Given the description of an element on the screen output the (x, y) to click on. 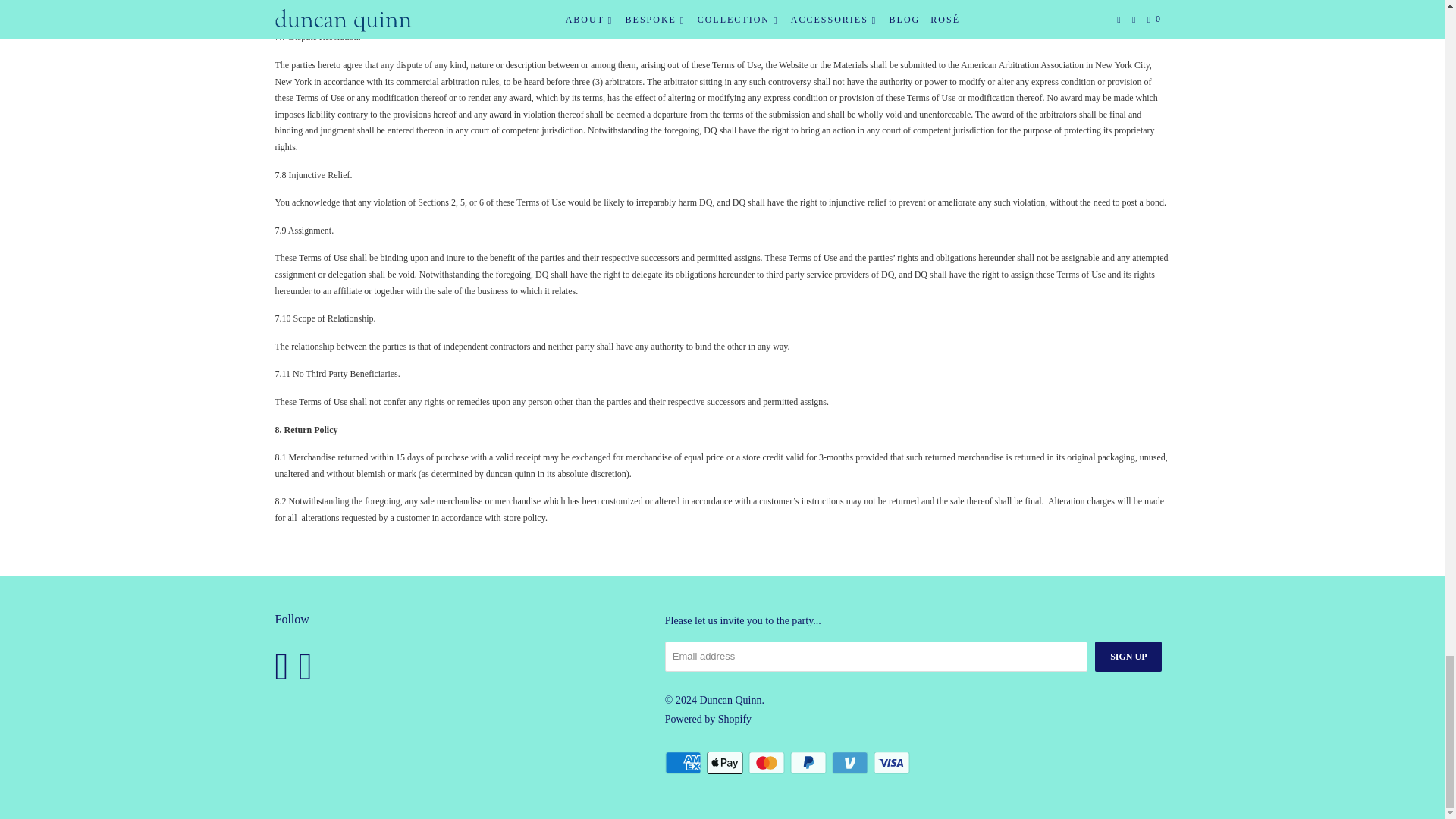
Mastercard (767, 762)
Sign Up (1127, 656)
Visa (892, 762)
PayPal (809, 762)
American Express (684, 762)
Apple Pay (725, 762)
Venmo (850, 762)
